Given the description of an element on the screen output the (x, y) to click on. 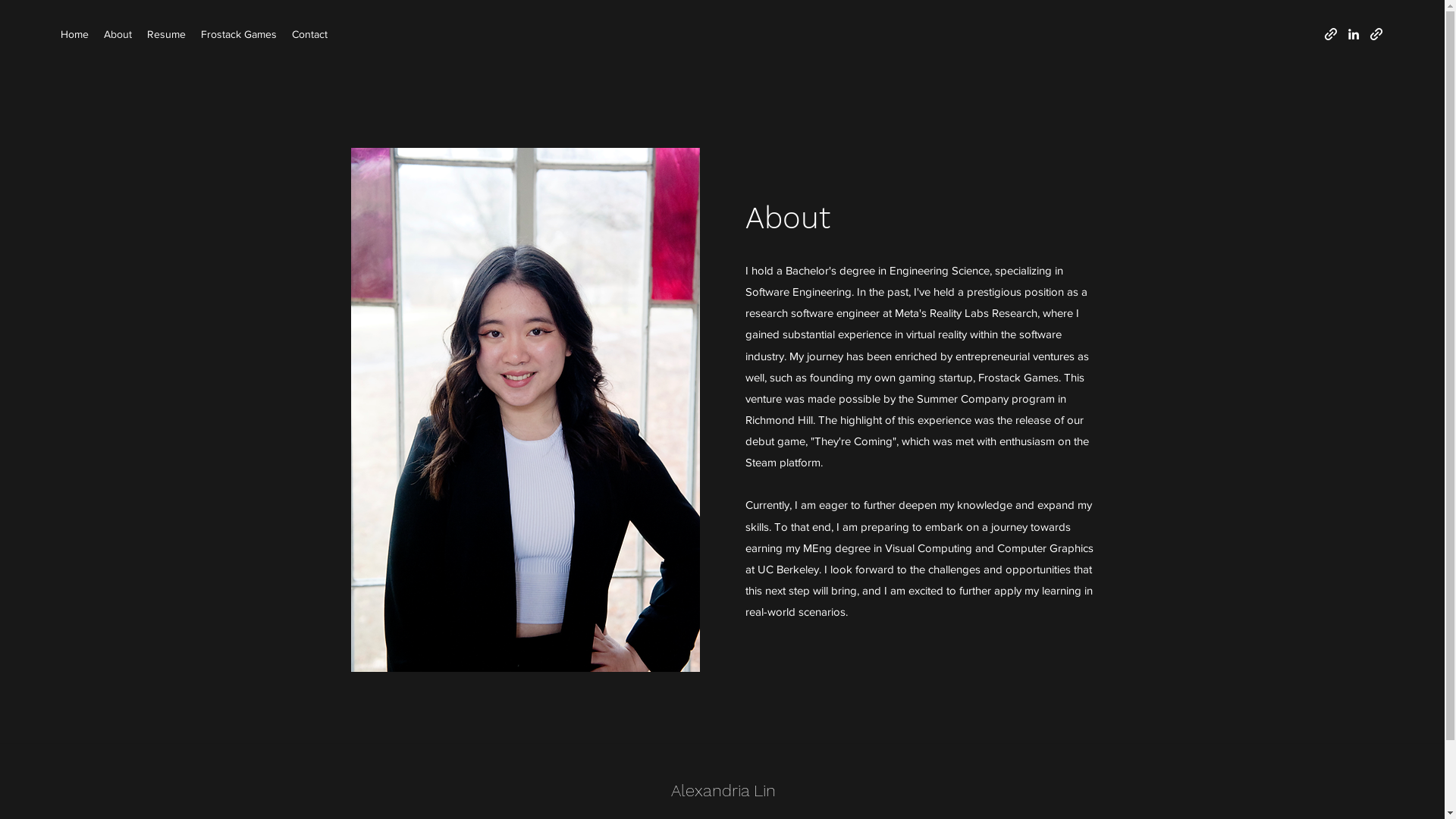
Resume Element type: text (166, 33)
Alexandria Lin Element type: text (723, 790)
About Element type: text (117, 33)
Contact Element type: text (309, 33)
Frostack Games Element type: text (238, 33)
Home Element type: text (74, 33)
